Given the description of an element on the screen output the (x, y) to click on. 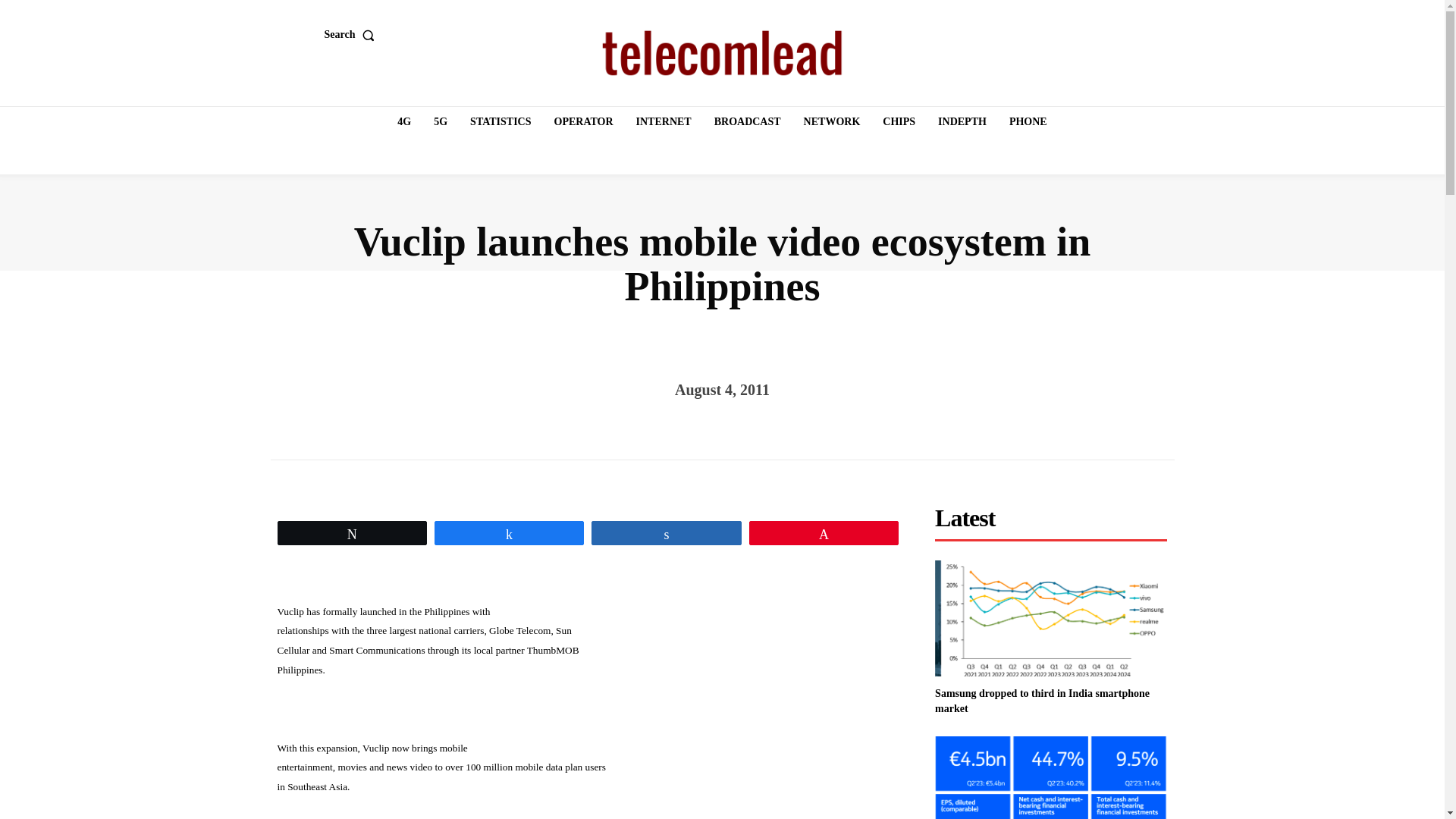
INTERNET (663, 122)
BROADCAST (747, 122)
Samsung dropped to third in India smartphone market (1042, 700)
Samsung dropped to third in India smartphone market (1050, 618)
Search (352, 34)
OPERATOR (584, 122)
PHONE (1027, 122)
Samsung dropped to third in India smartphone market (1042, 700)
INDEPTH (962, 122)
NETWORK (831, 122)
4G (404, 122)
tl (722, 53)
STATISTICS (500, 122)
